Given the description of an element on the screen output the (x, y) to click on. 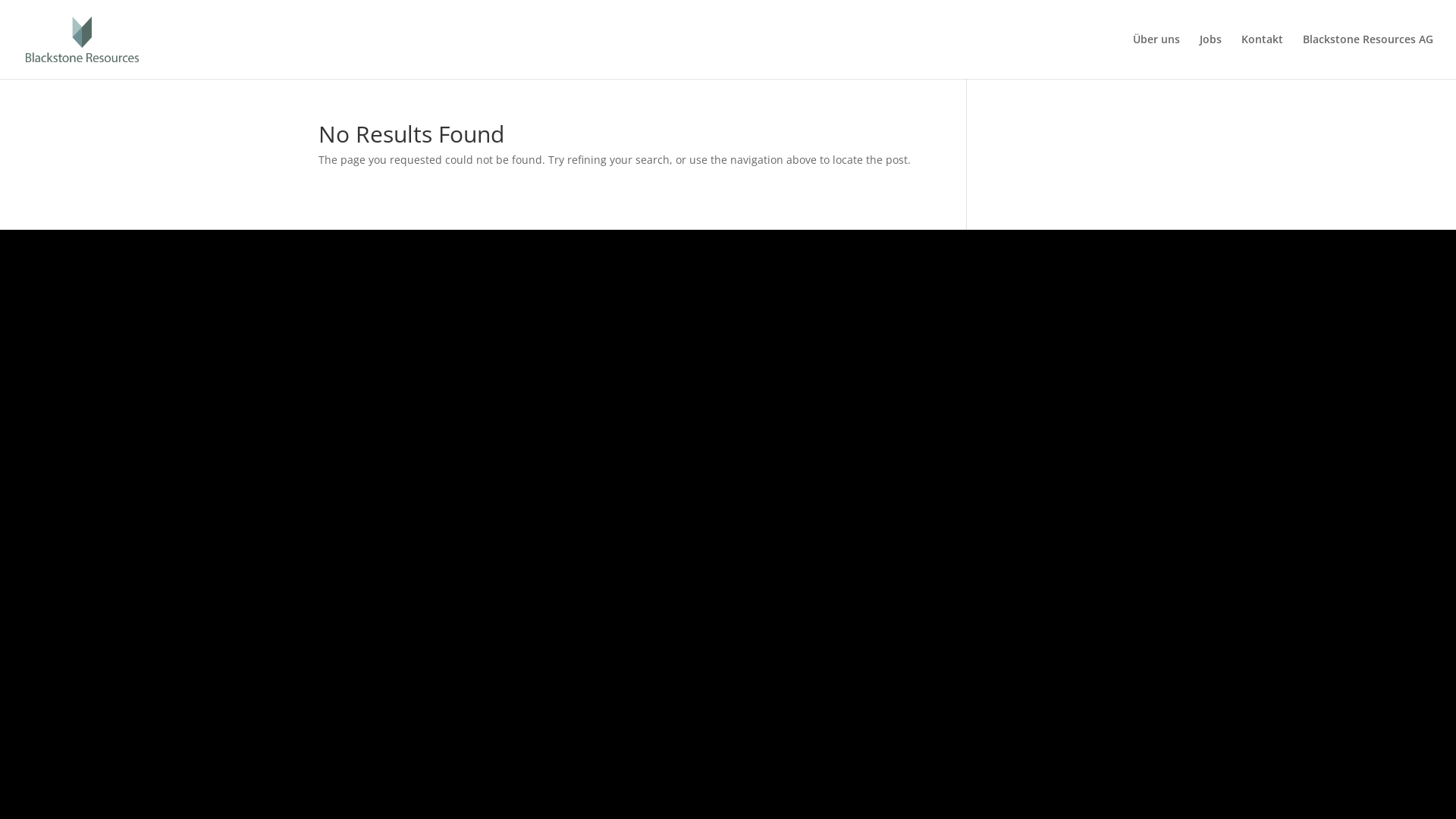
Kontakt Element type: text (1262, 56)
Jobs Element type: text (1210, 56)
Blackstone Resources AG Element type: text (1367, 56)
